Given the description of an element on the screen output the (x, y) to click on. 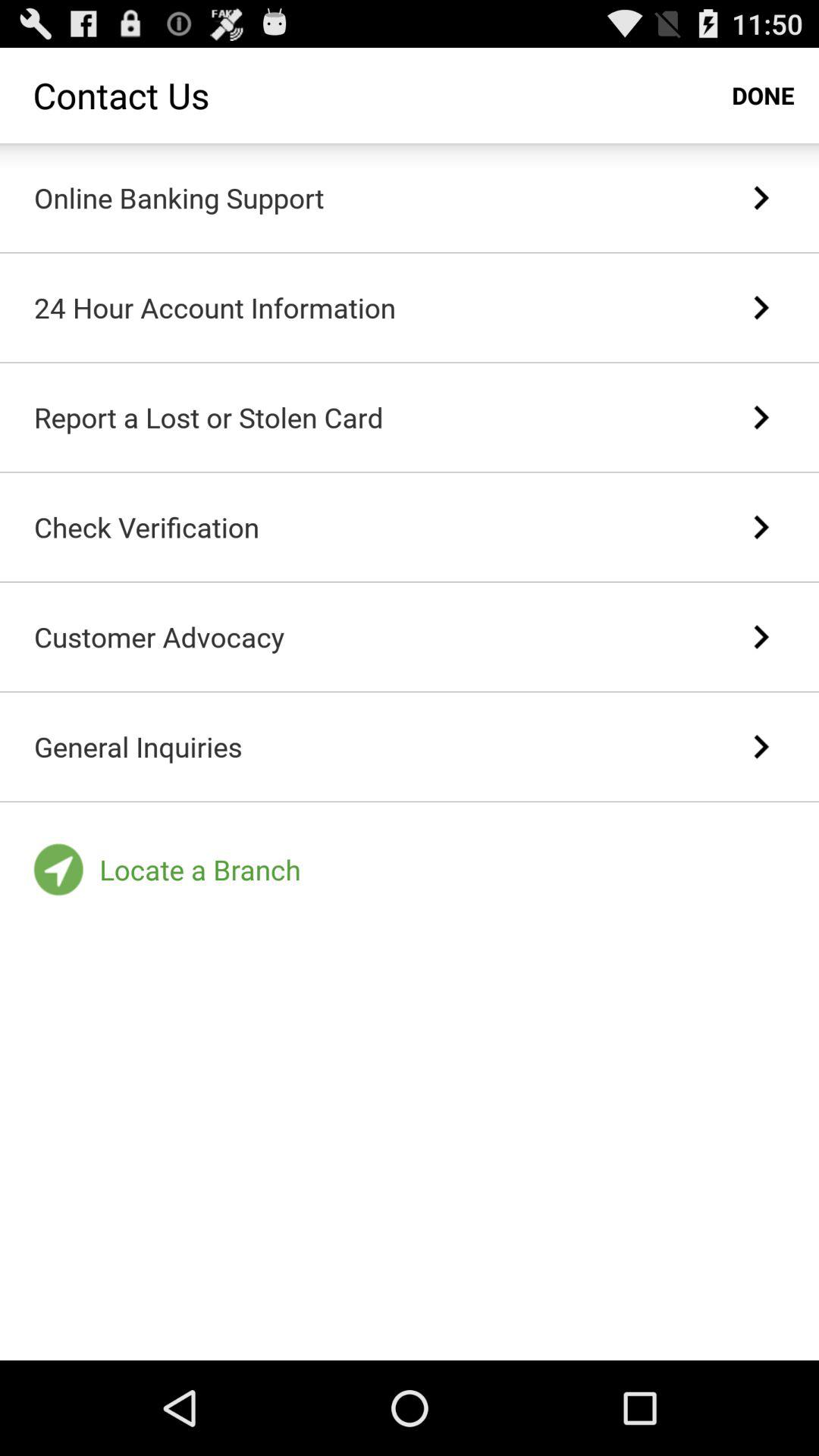
tap the done icon (763, 95)
